Given the description of an element on the screen output the (x, y) to click on. 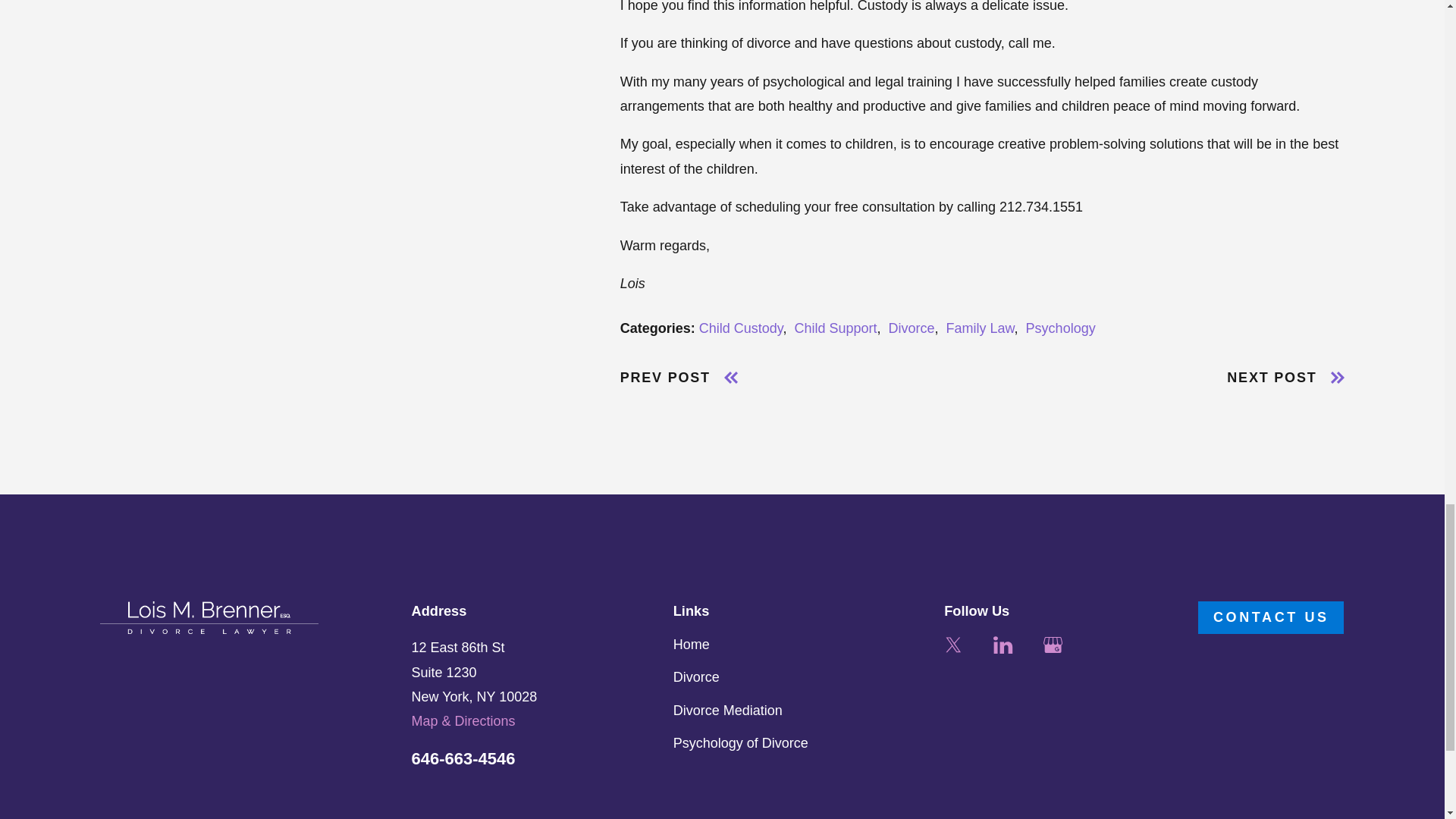
LinkedIn (1001, 644)
Home (209, 617)
Twitter (952, 644)
Google Business Profile (1052, 644)
